Given the description of an element on the screen output the (x, y) to click on. 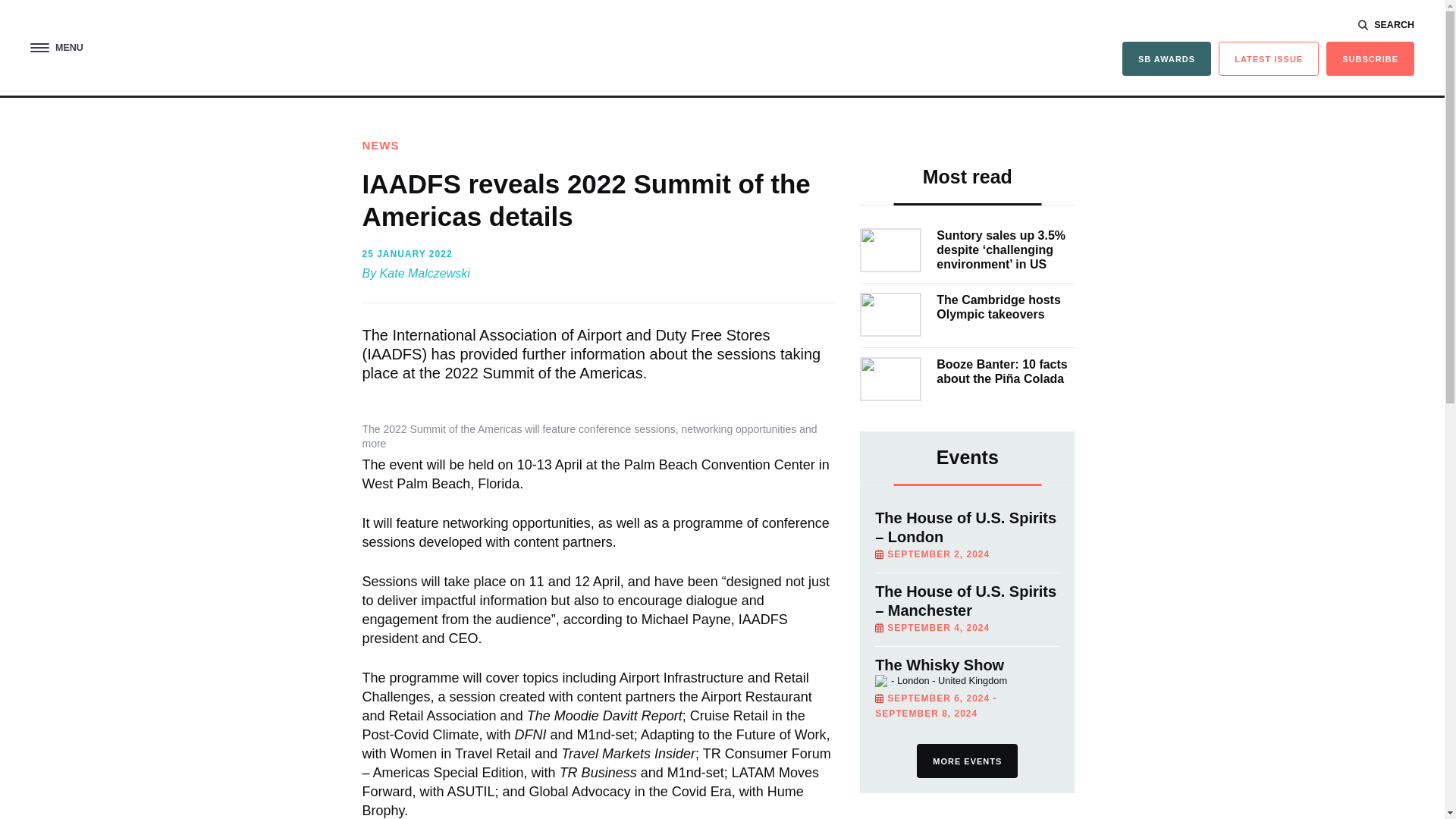
MENU (56, 48)
SUBSCRIBE (1369, 58)
LATEST ISSUE (1268, 58)
SB AWARDS (1166, 58)
SEARCH (1385, 24)
The Spirits Business (721, 47)
